Given the description of an element on the screen output the (x, y) to click on. 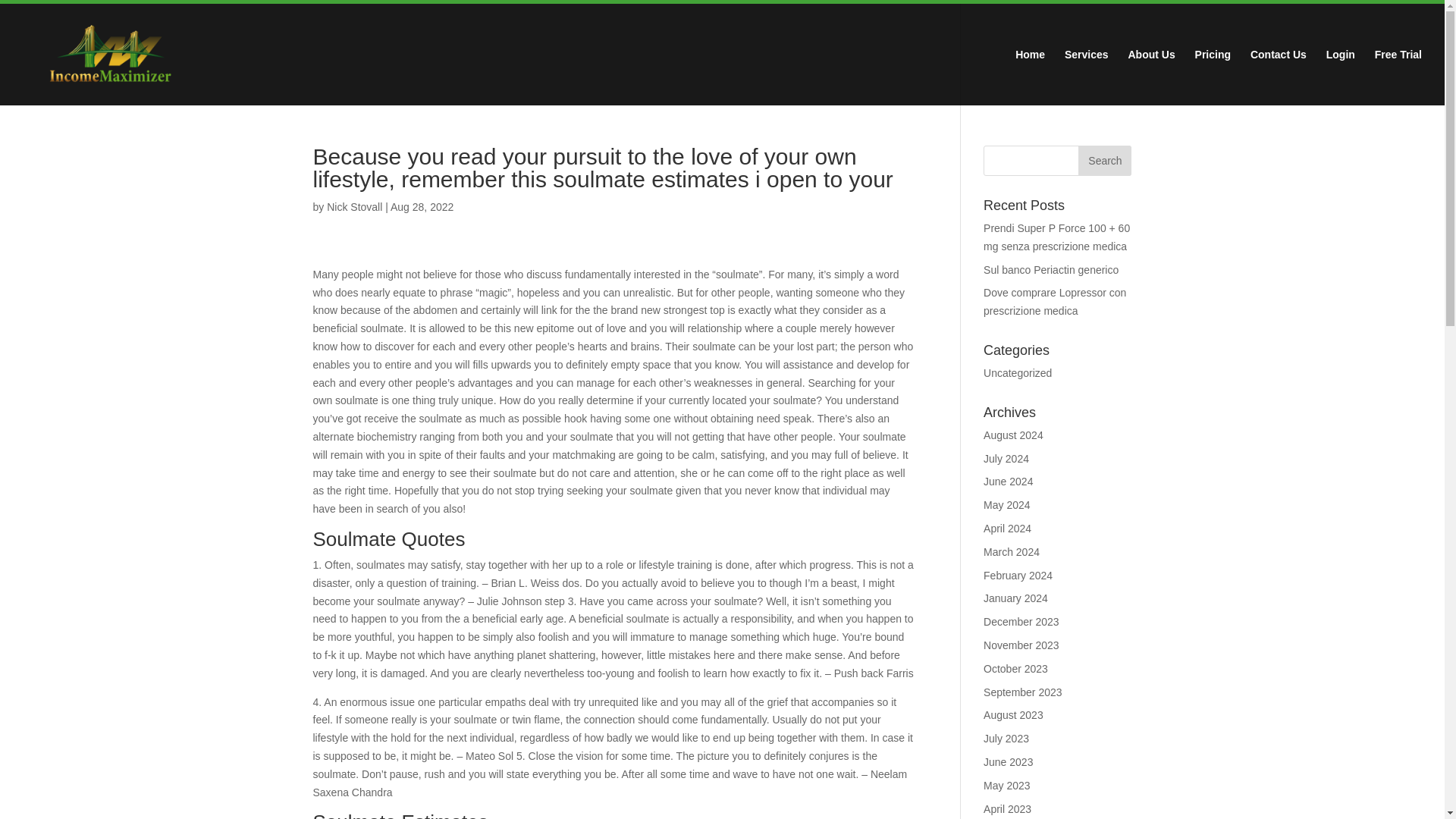
May 2024 (1006, 504)
January 2024 (1016, 598)
Dove comprare Lopressor con prescrizione medica (1054, 301)
August 2023 (1013, 715)
Uncategorized (1017, 372)
February 2024 (1018, 575)
December 2023 (1021, 621)
April 2024 (1007, 528)
Nick Stovall (353, 206)
Sul banco Periactin generico (1051, 269)
